Given the description of an element on the screen output the (x, y) to click on. 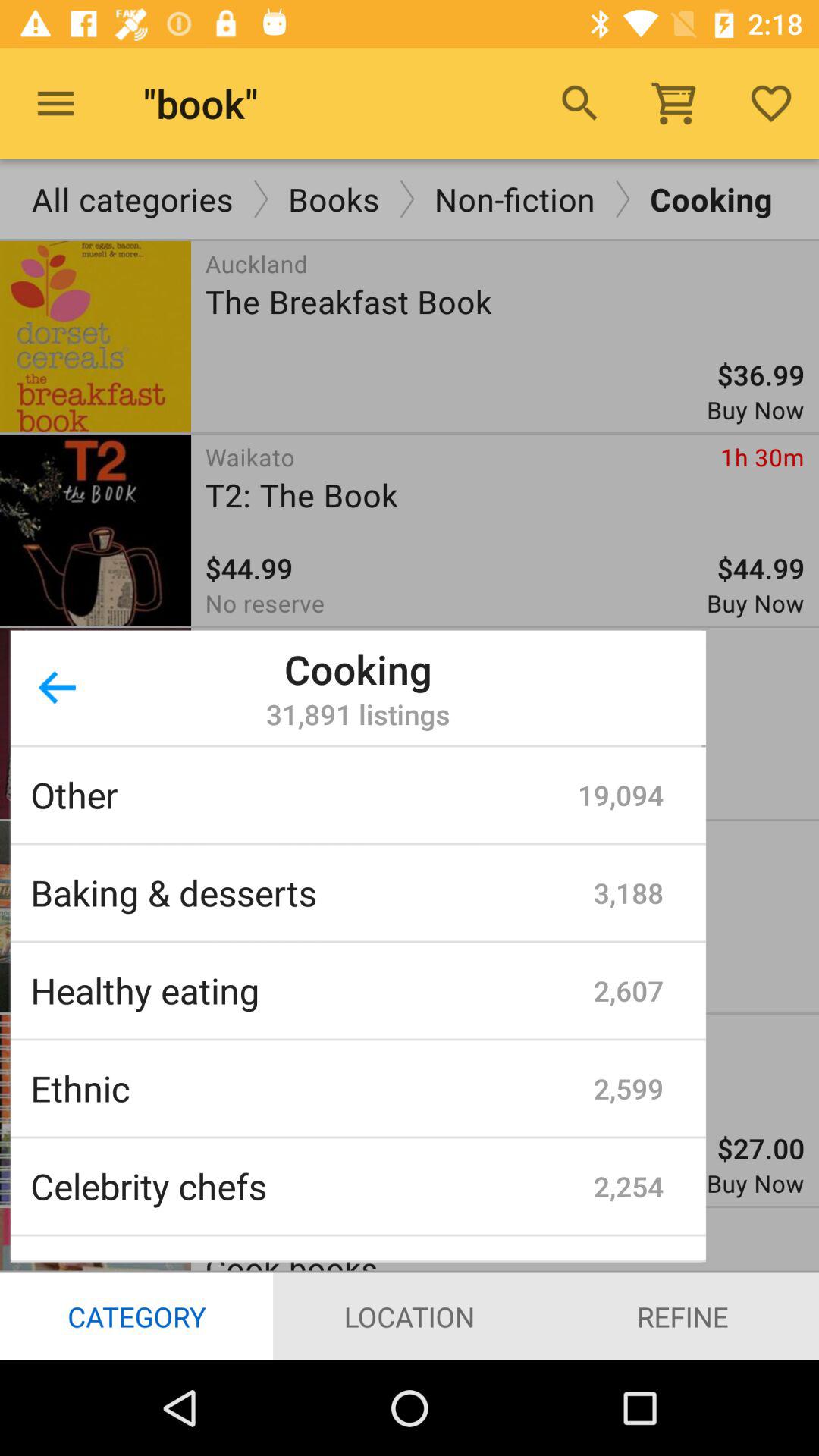
click ethnic (311, 1088)
